Given the description of an element on the screen output the (x, y) to click on. 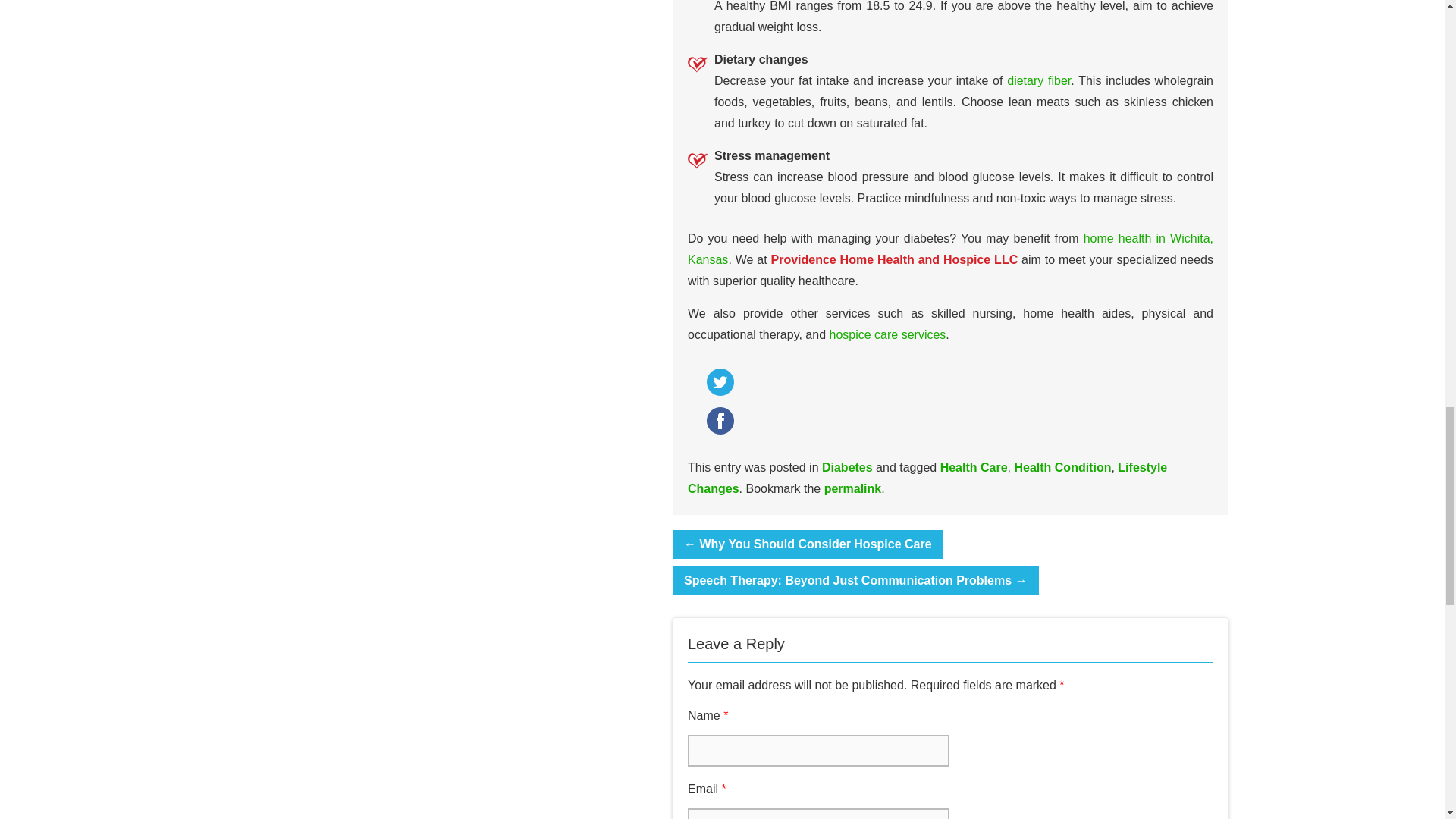
home health in Wichita, Kansas (949, 248)
Diabetes (847, 467)
Health Care (973, 467)
Permalink to Lifestyle Changes When Living With Diabetes (853, 488)
dietary fiber (1038, 80)
permalink (853, 488)
hospice care services (887, 333)
Health Condition (1061, 467)
Lifestyle Changes (927, 478)
